Given the description of an element on the screen output the (x, y) to click on. 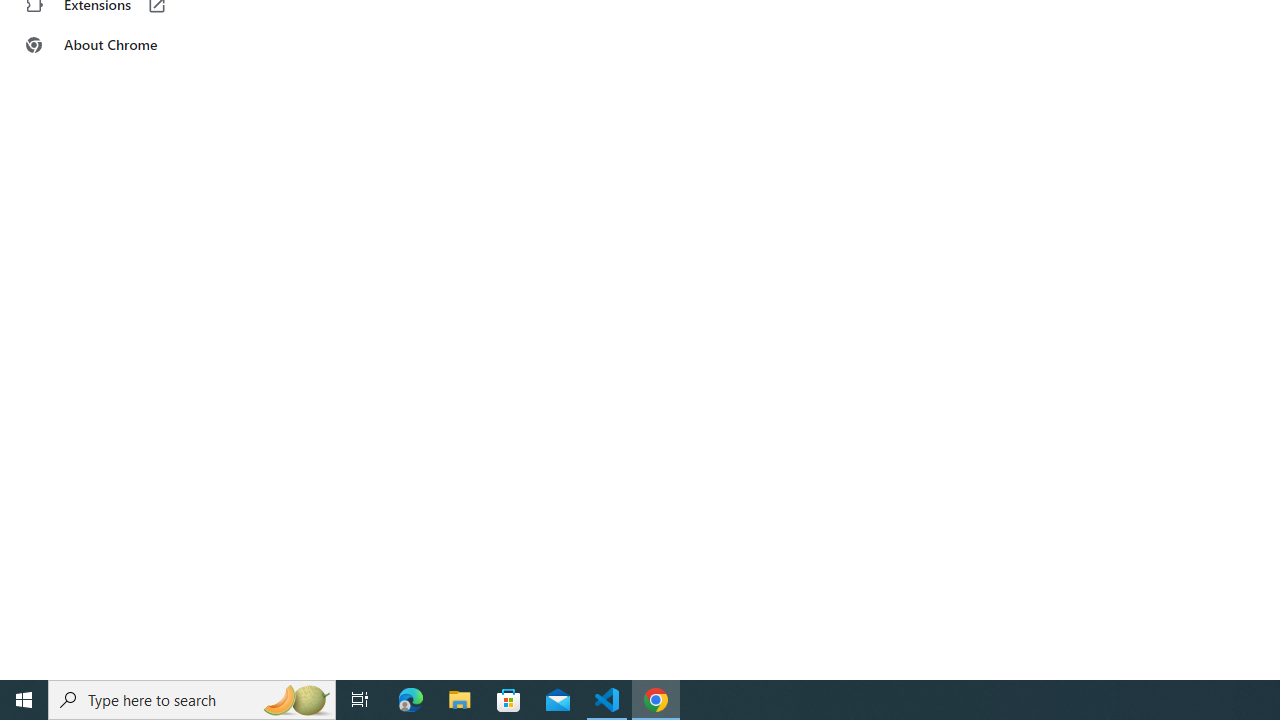
Start (24, 699)
Type here to search (191, 699)
About Chrome (124, 44)
File Explorer (460, 699)
Task View (359, 699)
Google Chrome - 1 running window (656, 699)
Microsoft Edge (411, 699)
Search highlights icon opens search home window (295, 699)
Visual Studio Code - 1 running window (607, 699)
Microsoft Store (509, 699)
